Given the description of an element on the screen output the (x, y) to click on. 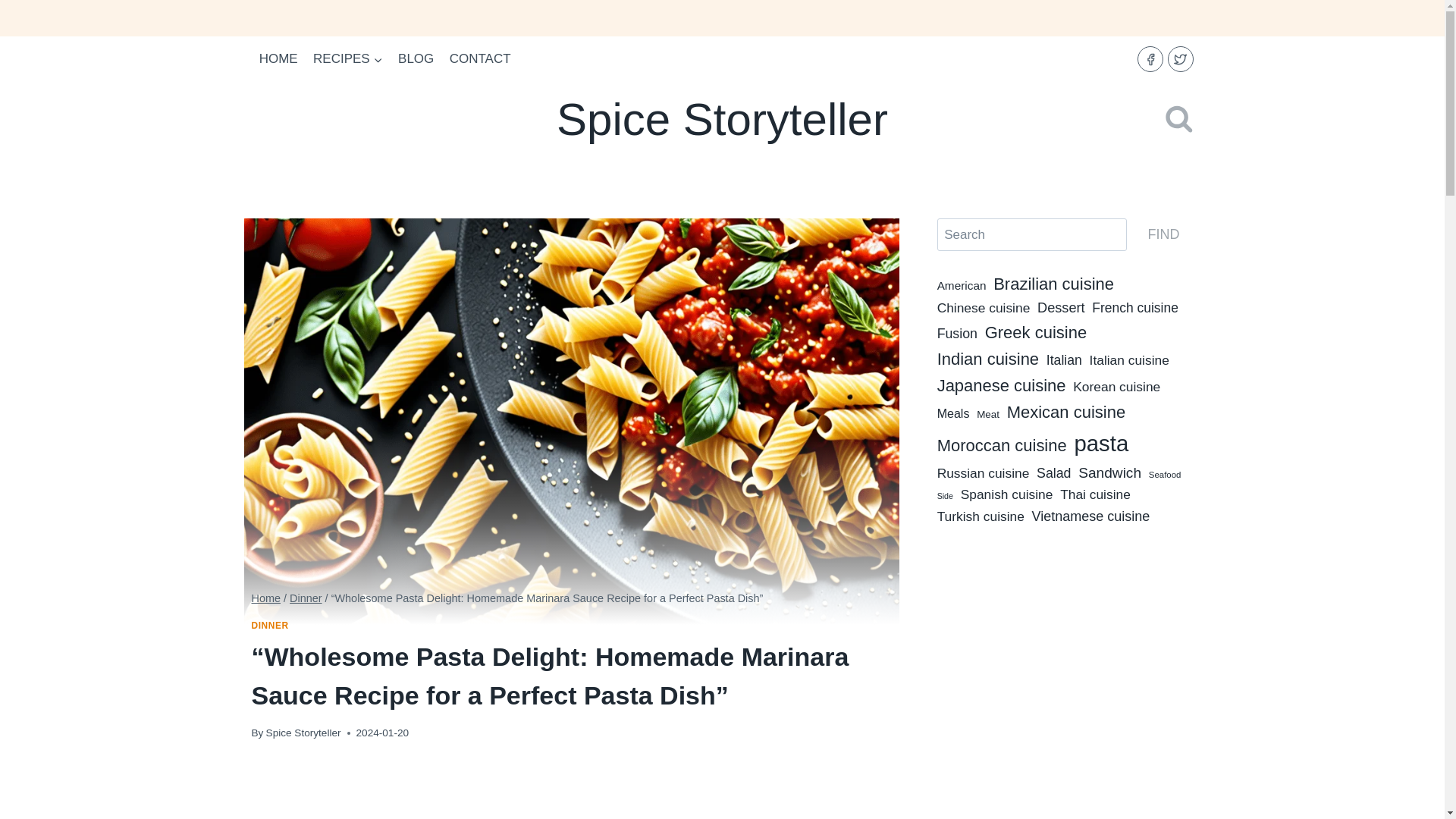
HOME (278, 58)
DINNER (269, 624)
CONTACT (480, 58)
BLOG (416, 58)
Spice Storyteller (303, 732)
Home (266, 598)
RECIPES (347, 58)
Spice Storyteller (722, 119)
Dinner (305, 598)
